Given the description of an element on the screen output the (x, y) to click on. 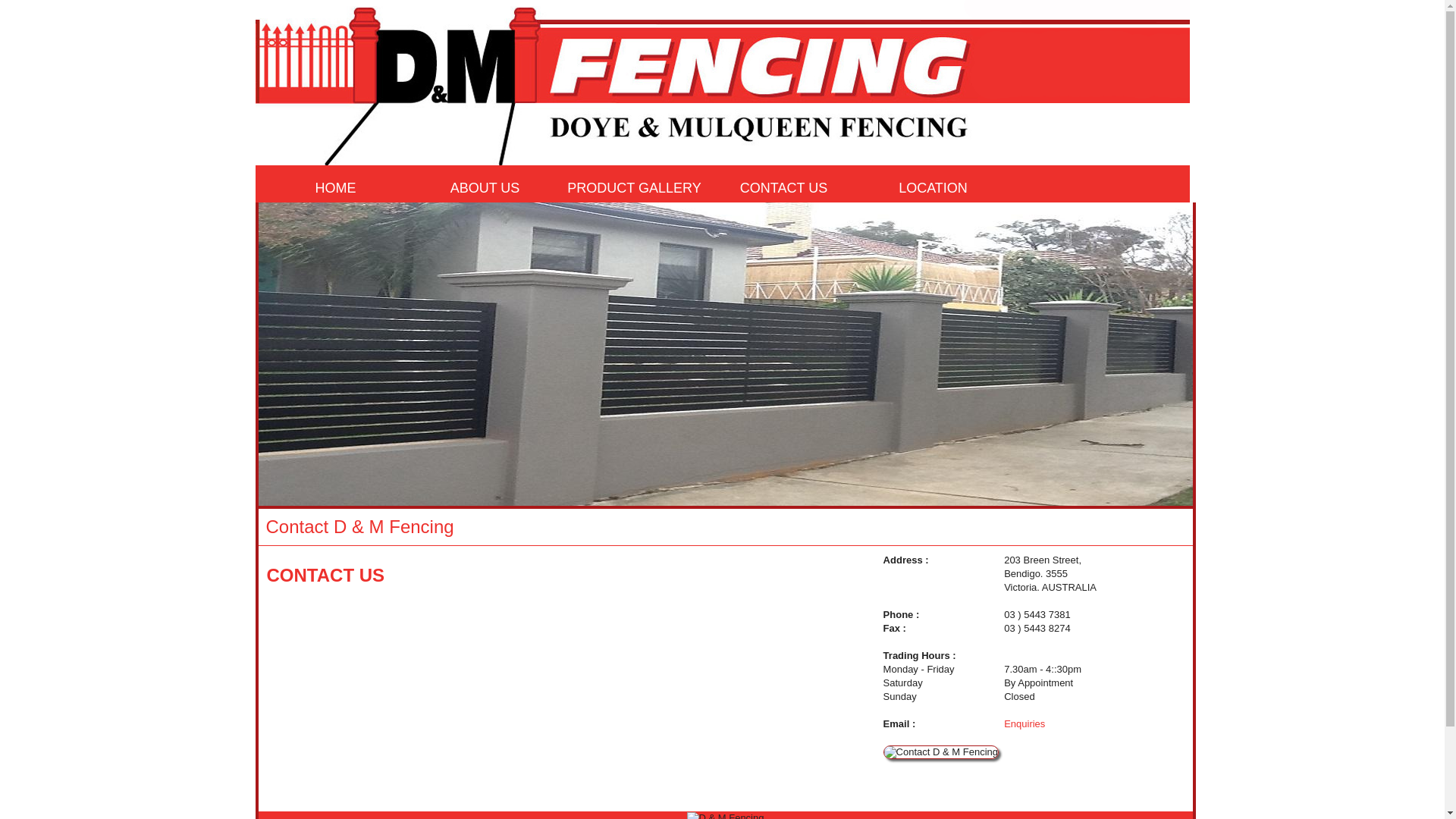
1 Element type: text (1079, 219)
1 Element type: text (1092, 219)
1 Element type: text (1133, 219)
1 Element type: text (1120, 219)
1 Element type: text (1161, 219)
1 Element type: text (1106, 219)
PRODUCT GALLERY Element type: text (633, 188)
1 Element type: text (1147, 219)
D & M Fencing Element type: hover (724, 353)
CONTACT US Element type: text (783, 188)
HOME Element type: text (334, 188)
LOCATION Element type: text (932, 188)
1 Element type: text (1174, 219)
Enquiries Element type: text (1024, 723)
ABOUT US Element type: text (485, 188)
1 Element type: text (1051, 219)
1 Element type: text (1065, 219)
